Given the description of an element on the screen output the (x, y) to click on. 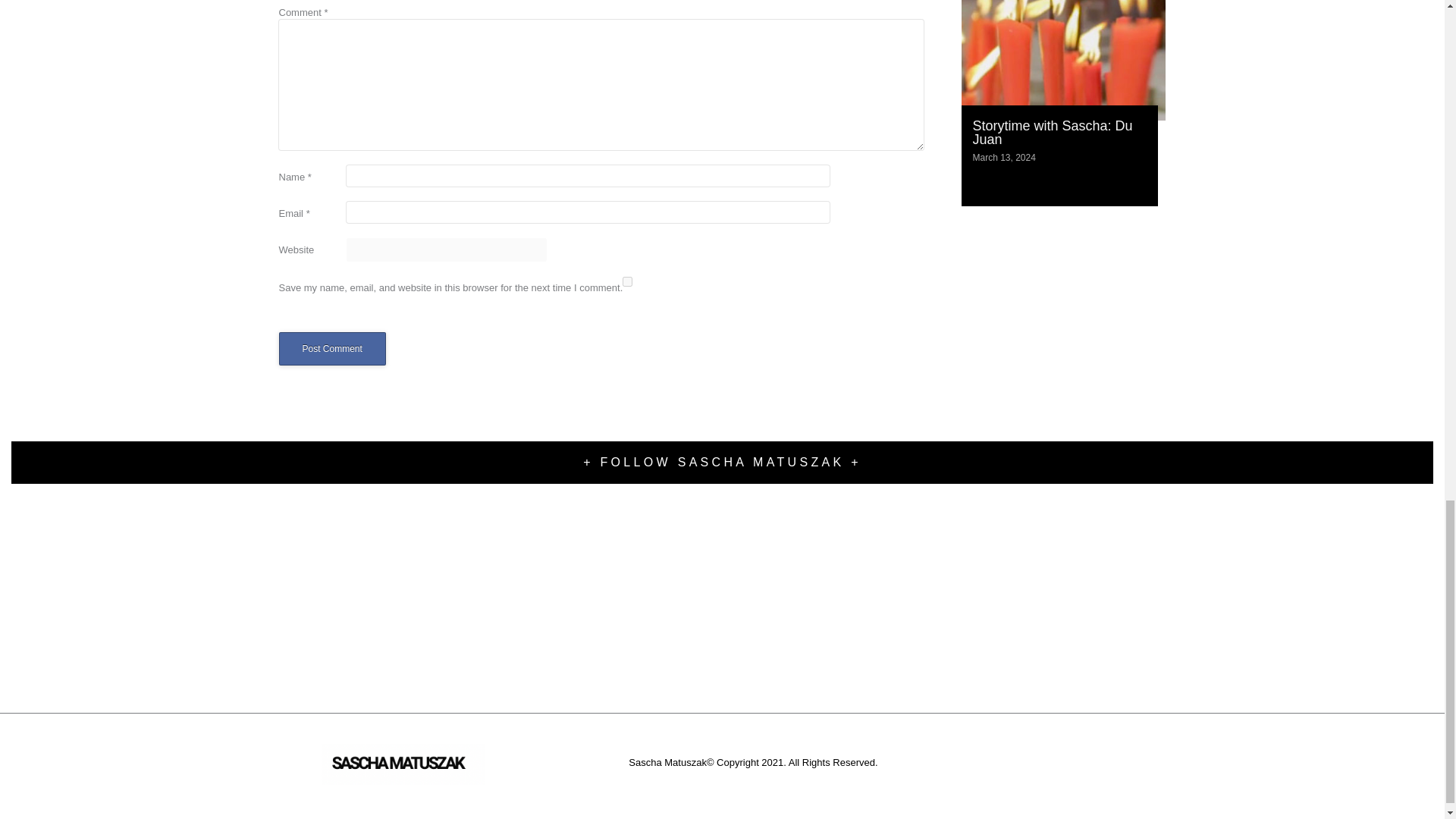
yes (627, 281)
Post Comment (332, 348)
Post Comment (332, 348)
Storytime with Sascha: Du Juan (1052, 132)
